Given the description of an element on the screen output the (x, y) to click on. 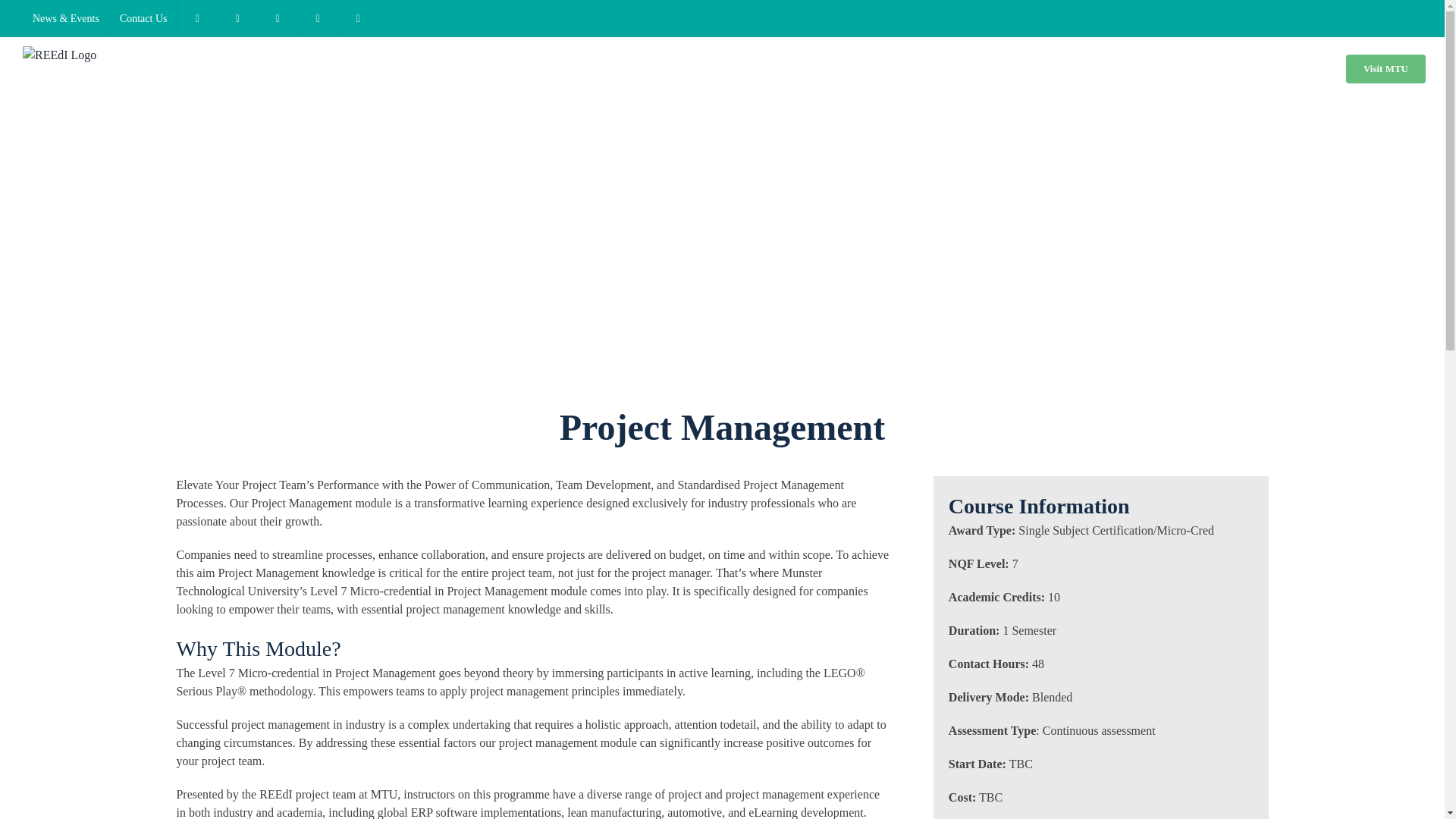
REEdI Degree (789, 68)
Industry (945, 68)
Contact Us (143, 18)
Career Pathways (1222, 68)
Visit MTU (1385, 68)
